Given the description of an element on the screen output the (x, y) to click on. 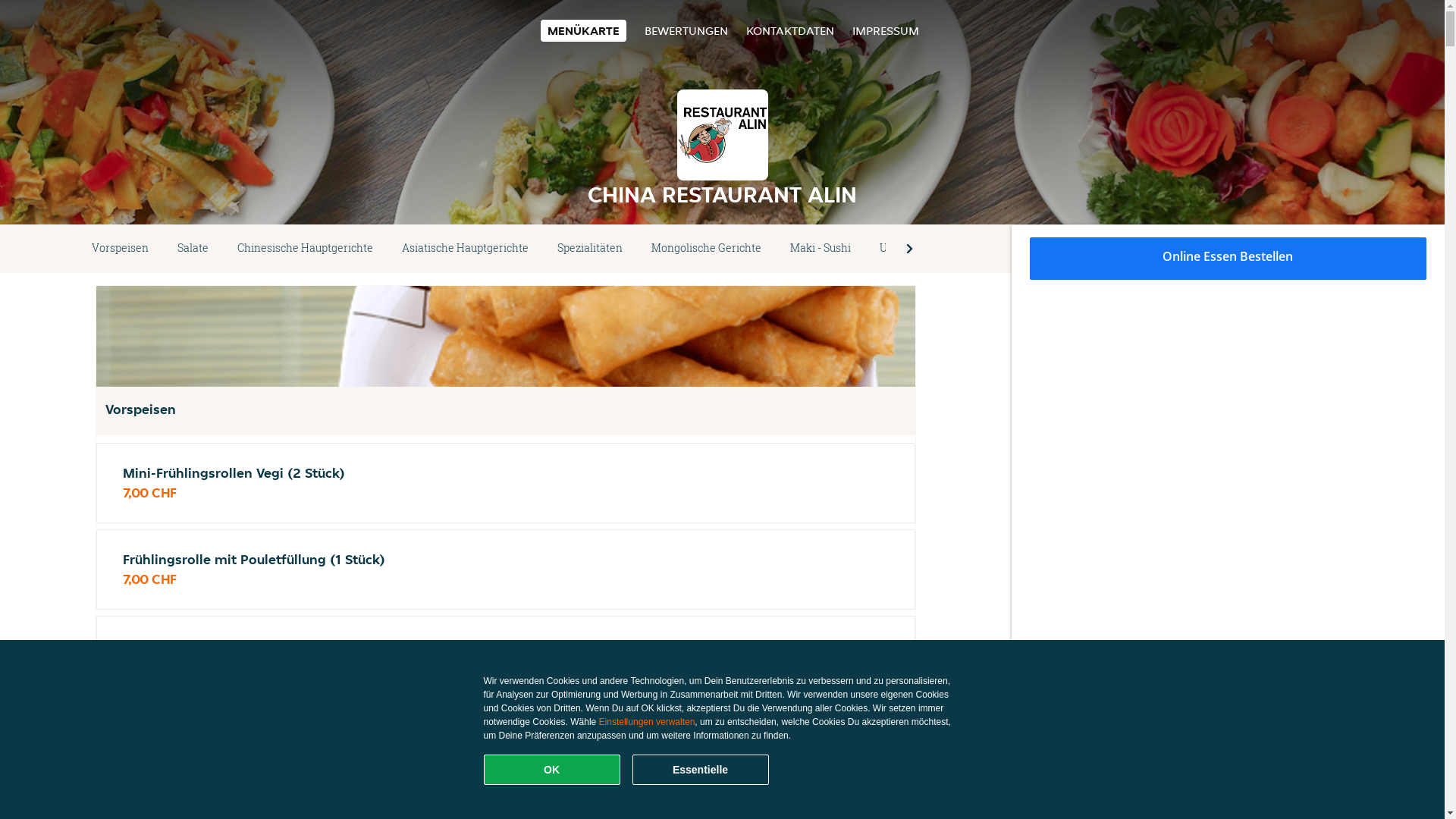
Crevetten Chips
4,00 CHF Element type: text (505, 655)
OK Element type: text (551, 769)
Vorspeisen Element type: text (120, 248)
KONTAKTDATEN Element type: text (790, 30)
BEWERTUNGEN Element type: text (686, 30)
Maki - Sushi Element type: text (820, 248)
Uramaki Element type: text (901, 248)
Crevetten gebacken
9,00 CHF Element type: text (505, 742)
Essentielle Element type: text (700, 769)
Online Essen Bestellen Element type: text (1228, 258)
Salate Element type: text (192, 248)
IMPRESSUM Element type: text (885, 30)
Asiatische Hauptgerichte Element type: text (464, 248)
Mongolische Gerichte Element type: text (706, 248)
Einstellungen verwalten Element type: text (647, 721)
Chinesische Hauptgerichte Element type: text (304, 248)
